Given the description of an element on the screen output the (x, y) to click on. 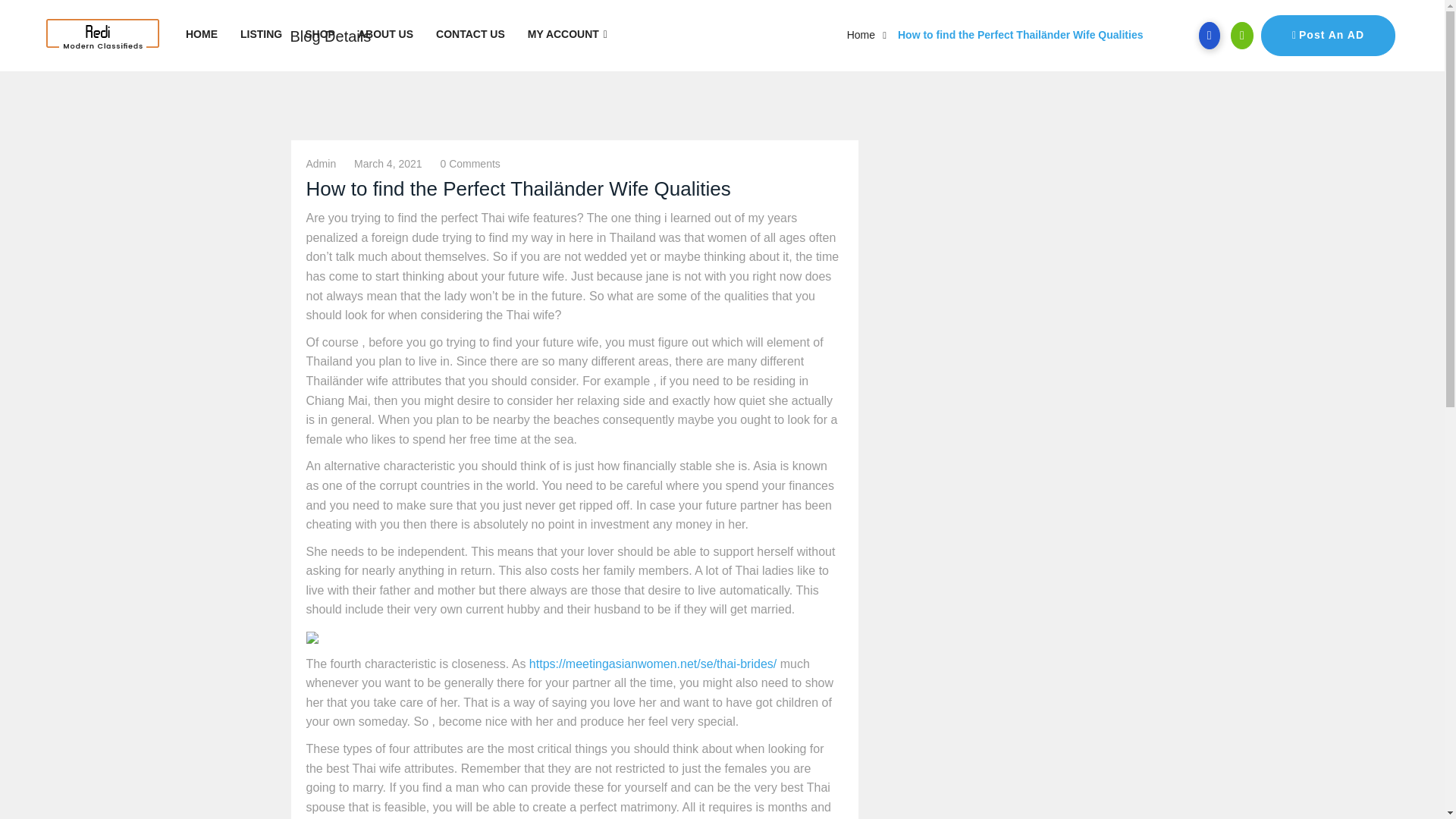
SHOP (320, 34)
Admin (320, 163)
0 Comments (469, 163)
Post An AD (1327, 35)
MY ACCOUNT (567, 34)
LISTING (261, 34)
CONTACT US (470, 34)
HOME (201, 34)
March 4, 2021 (387, 163)
ABOUT US (385, 34)
